Given the description of an element on the screen output the (x, y) to click on. 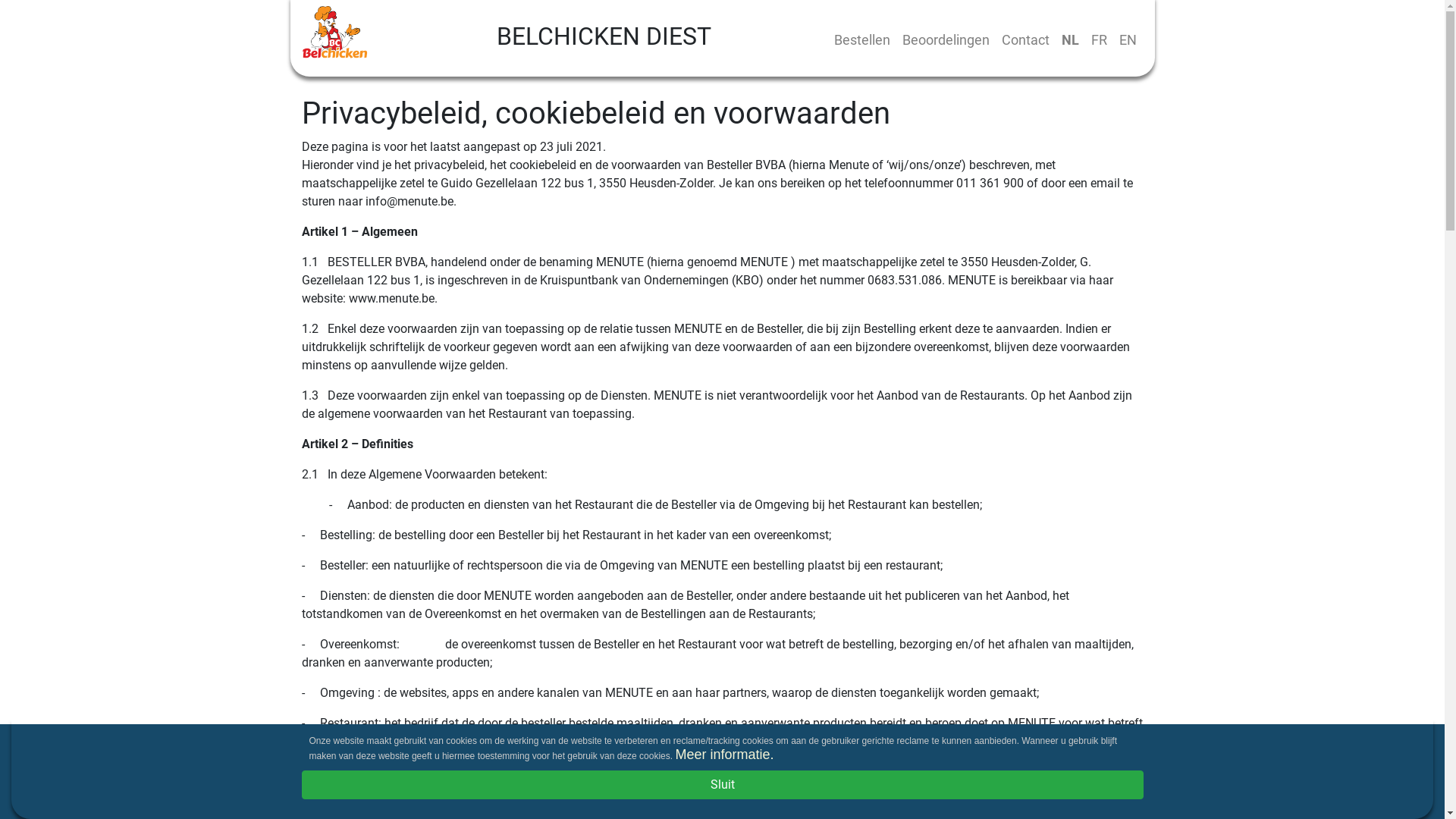
NL Element type: text (1070, 39)
Sluit Element type: text (722, 784)
EN Element type: text (1127, 39)
Bestellen Element type: text (862, 39)
FR Element type: text (1098, 39)
Beoordelingen Element type: text (945, 39)
Meer informatie. Element type: text (723, 754)
Contact Element type: text (1024, 39)
